Given the description of an element on the screen output the (x, y) to click on. 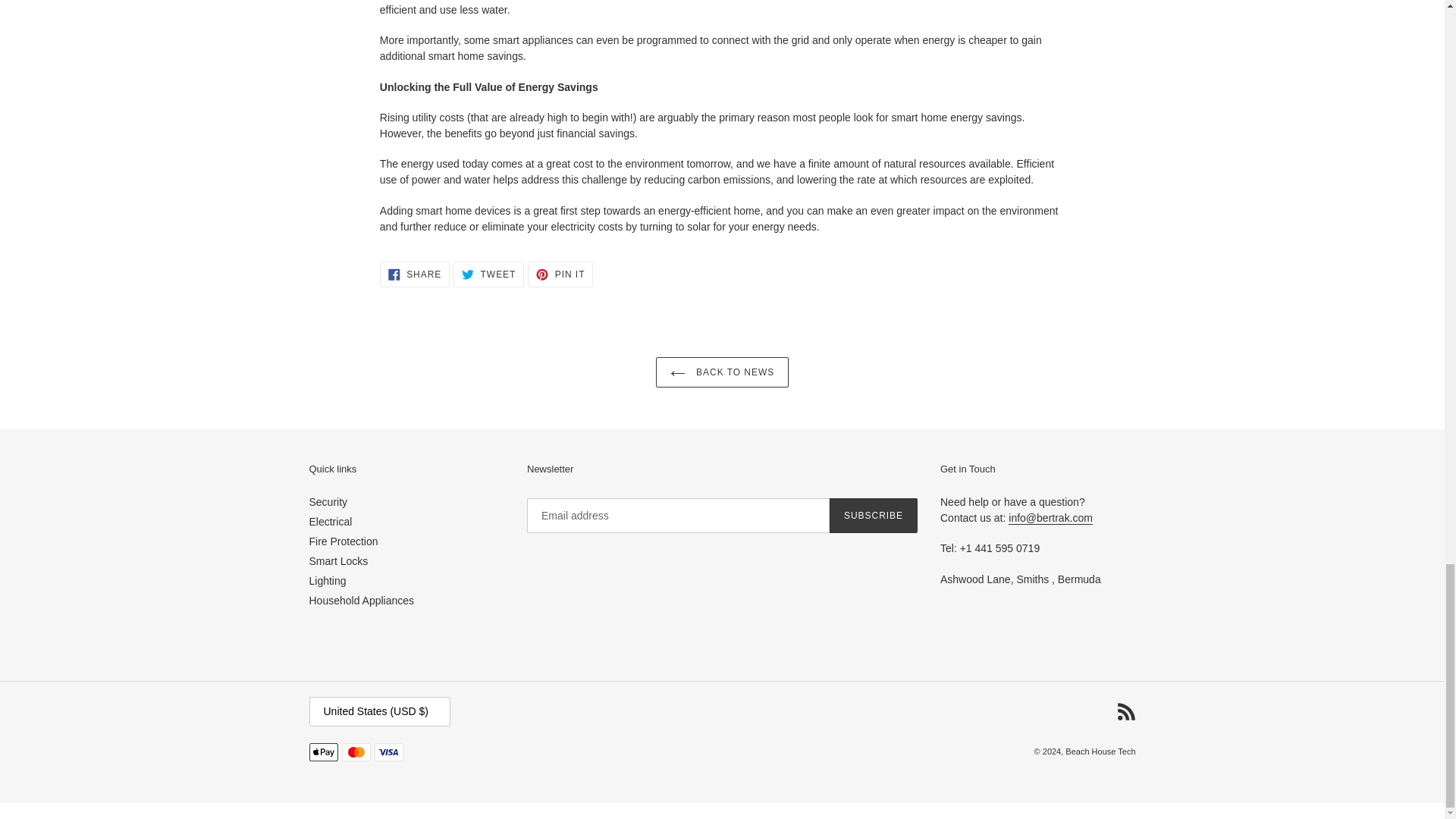
Fire Protection (414, 274)
Smart Locks (559, 274)
BACK TO NEWS (343, 541)
Household Appliances (338, 561)
Security (722, 372)
Electrical (361, 600)
Lighting (488, 274)
